Given the description of an element on the screen output the (x, y) to click on. 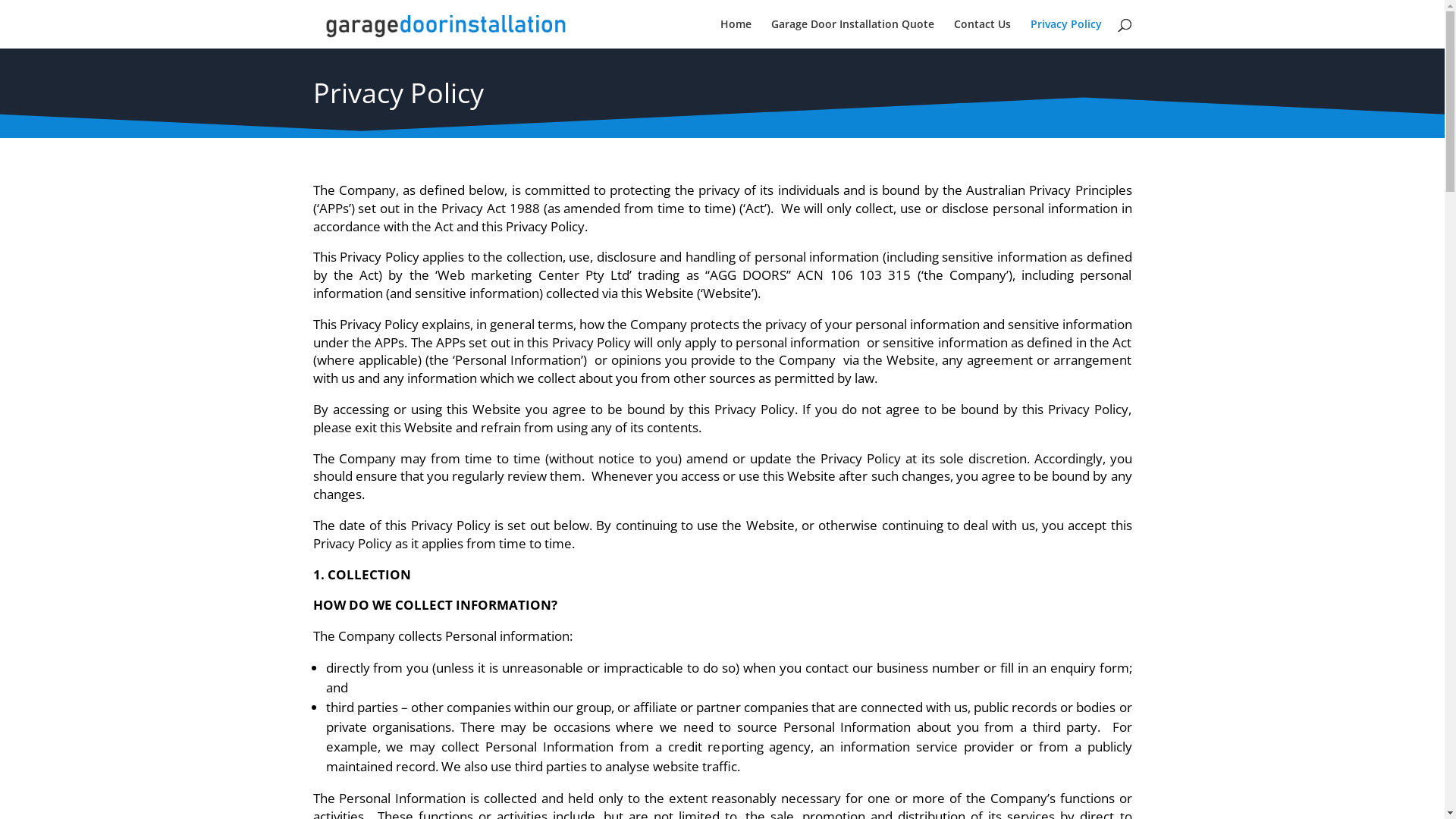
Home Element type: text (735, 33)
Garage Door Installation Quote Element type: text (851, 33)
Contact Us Element type: text (981, 33)
Privacy Policy Element type: text (1065, 33)
